Given the description of an element on the screen output the (x, y) to click on. 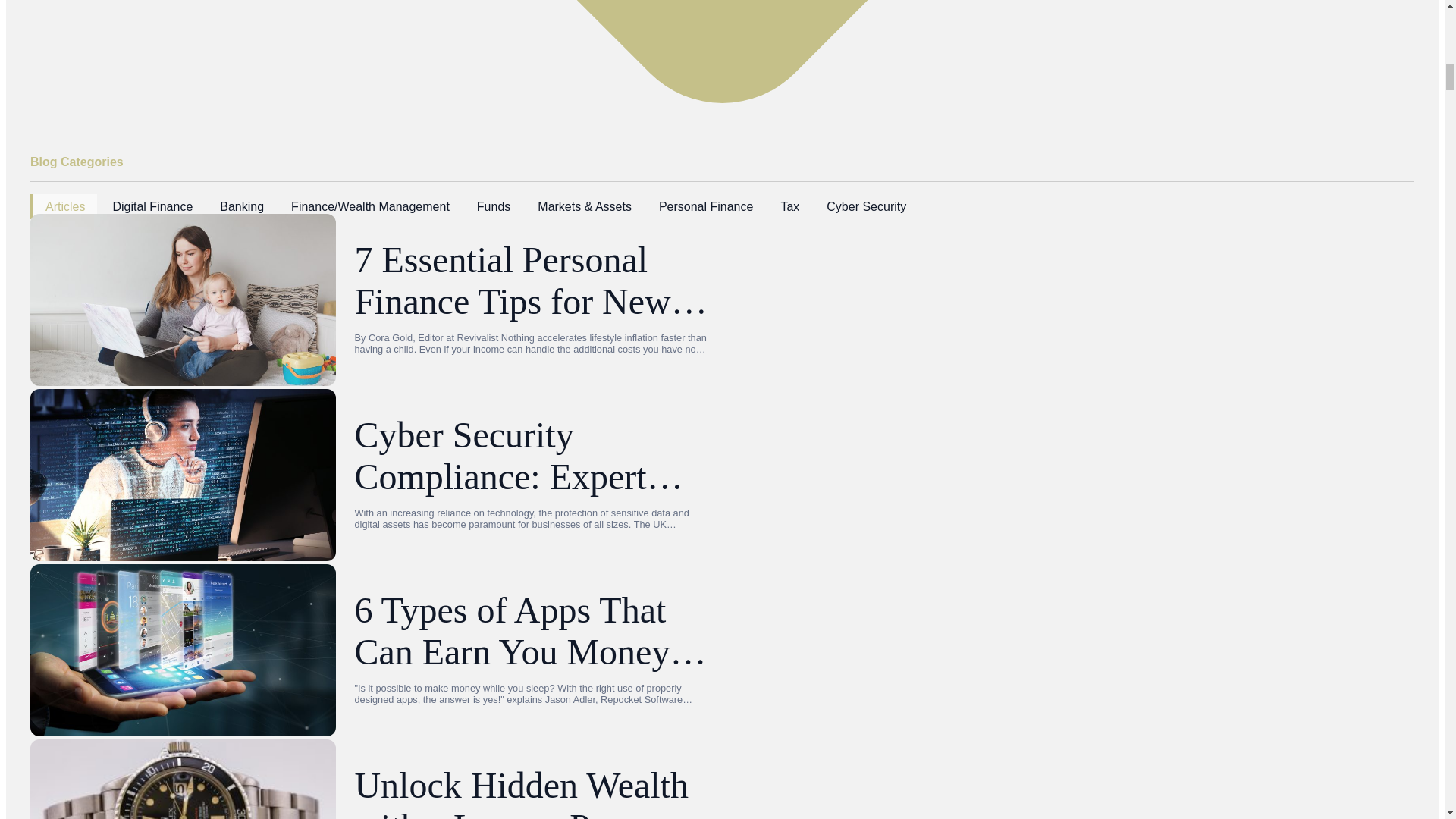
Digital Finance (151, 206)
Tax (787, 206)
Cyber Security (864, 206)
Articles (63, 206)
Personal Finance (704, 206)
7 Essential Personal Finance Tips for New Parents (531, 280)
6 Types of Apps That Can Earn You Money While You Sleep (531, 630)
Funds (491, 206)
Unlock Hidden Wealth with a Luxury Pawn Loan (531, 791)
Banking (240, 206)
